Given the description of an element on the screen output the (x, y) to click on. 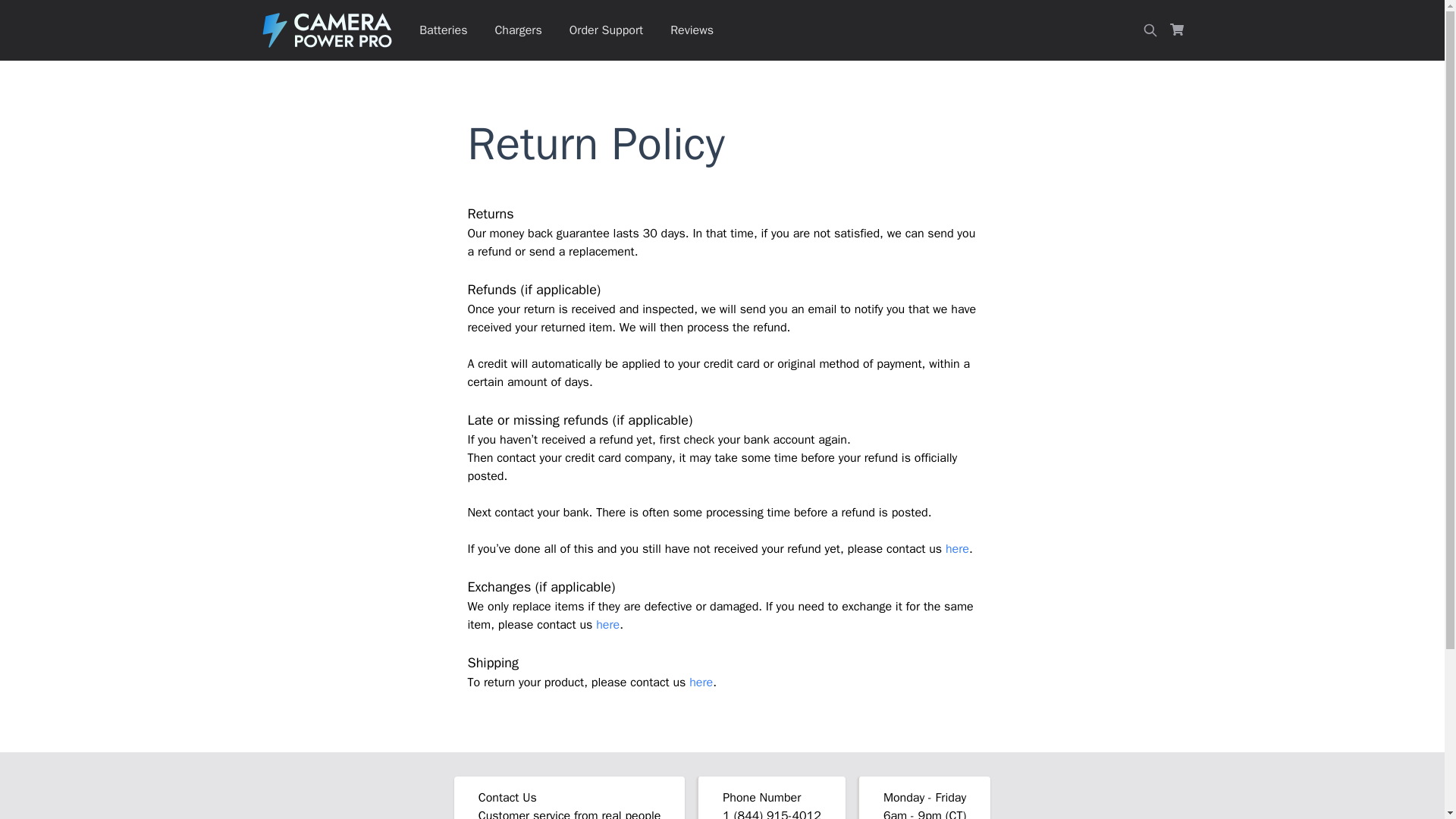
here (607, 624)
here (700, 682)
here (956, 548)
Chargers (517, 30)
Order Support (606, 30)
Batteries (443, 30)
Reviews (691, 30)
